Given the description of an element on the screen output the (x, y) to click on. 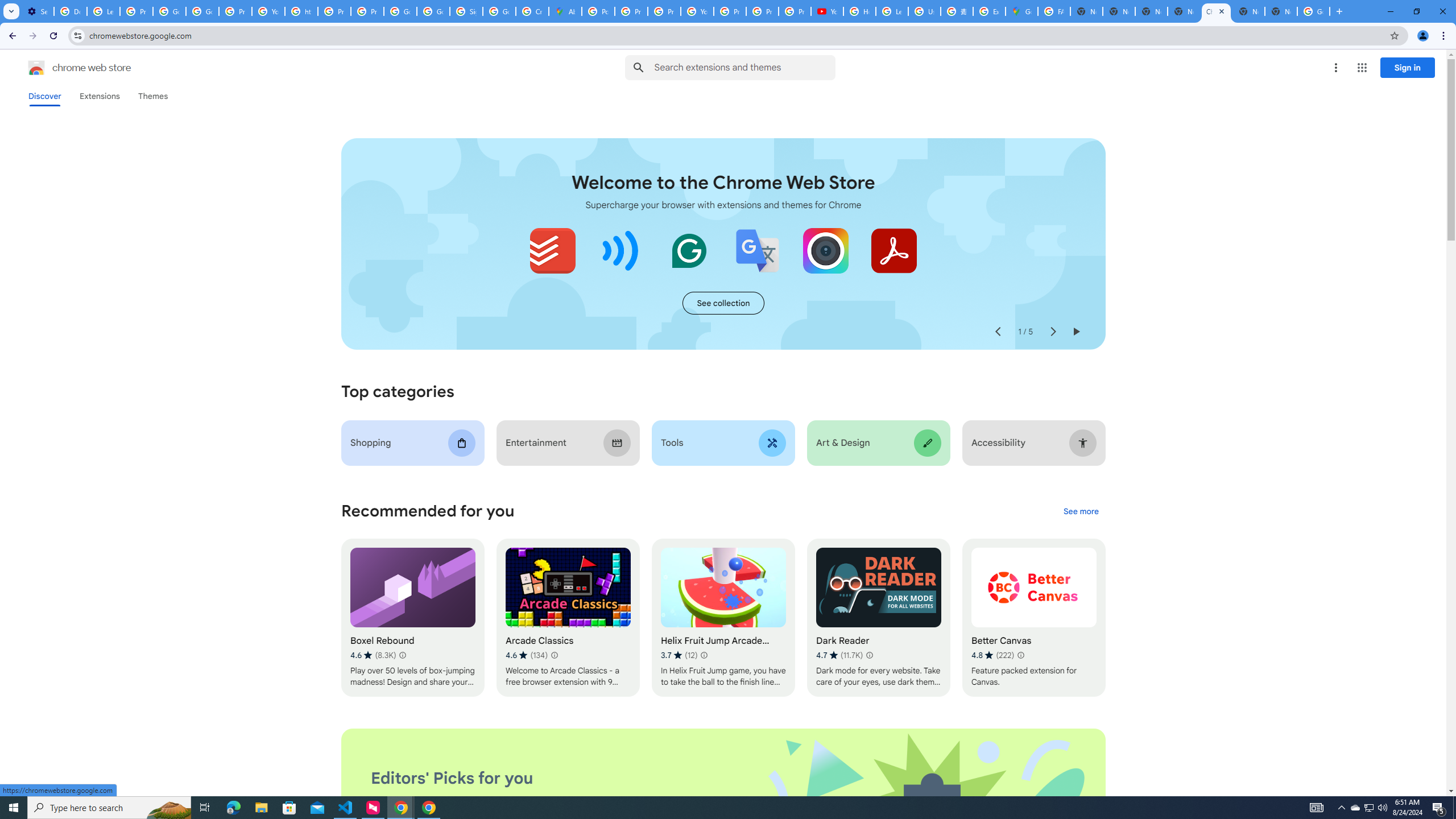
Learn more about results and reviews "Boxel Rebound" (402, 655)
Chrome Web Store logo (36, 67)
Average rating 4.6 out of 5 stars. 8.3K ratings. (372, 655)
Google Account Help (169, 11)
Art & Design (878, 443)
Shopping (412, 443)
Google Images (1313, 11)
Next slide (1052, 331)
YouTube (268, 11)
Policy Accountability and Transparency - Transparency Center (598, 11)
Delete photos & videos - Computer - Google Photos Help (70, 11)
